Given the description of an element on the screen output the (x, y) to click on. 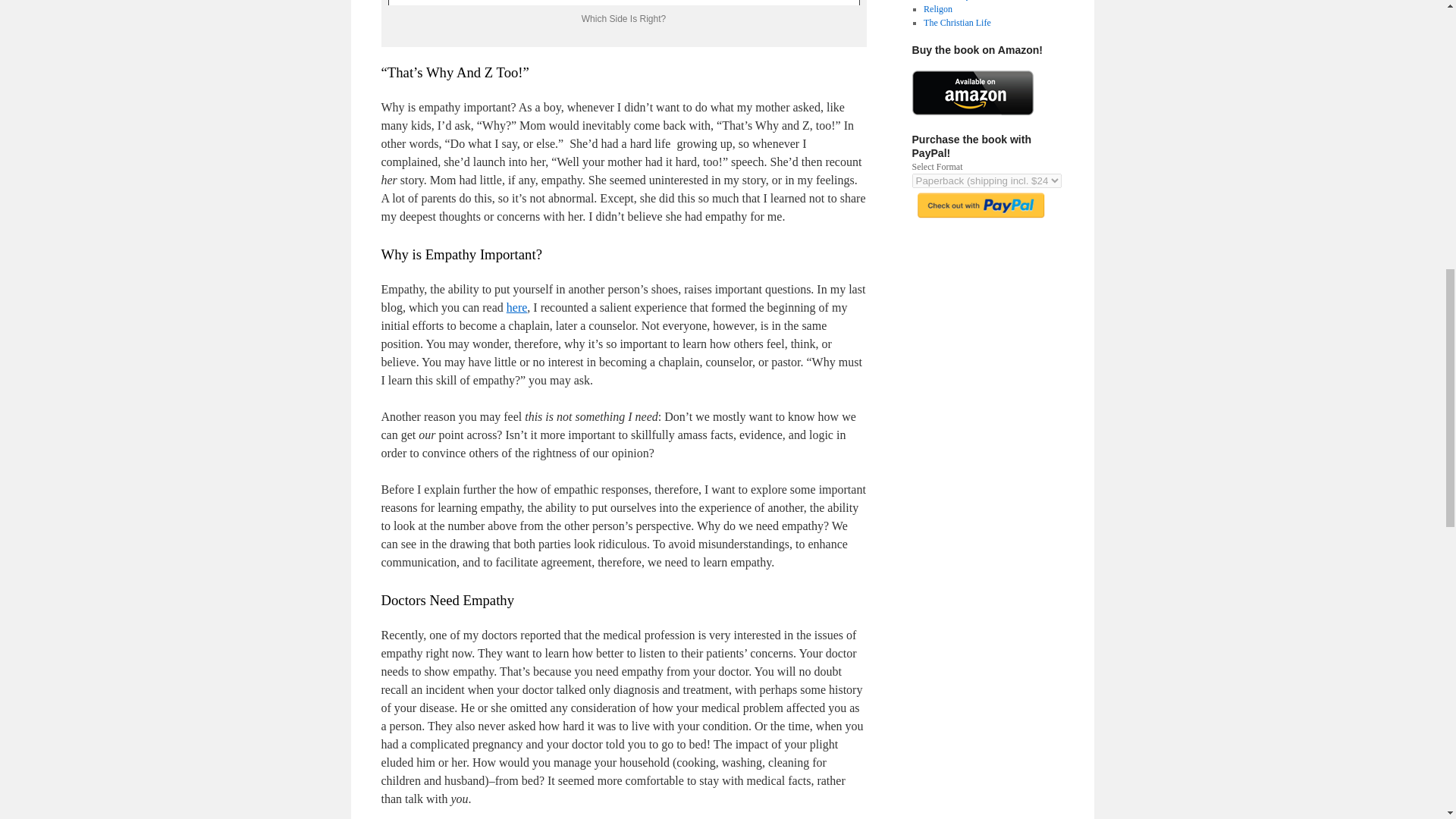
here (516, 307)
The Christian Life (957, 22)
Religon (937, 9)
